Given the description of an element on the screen output the (x, y) to click on. 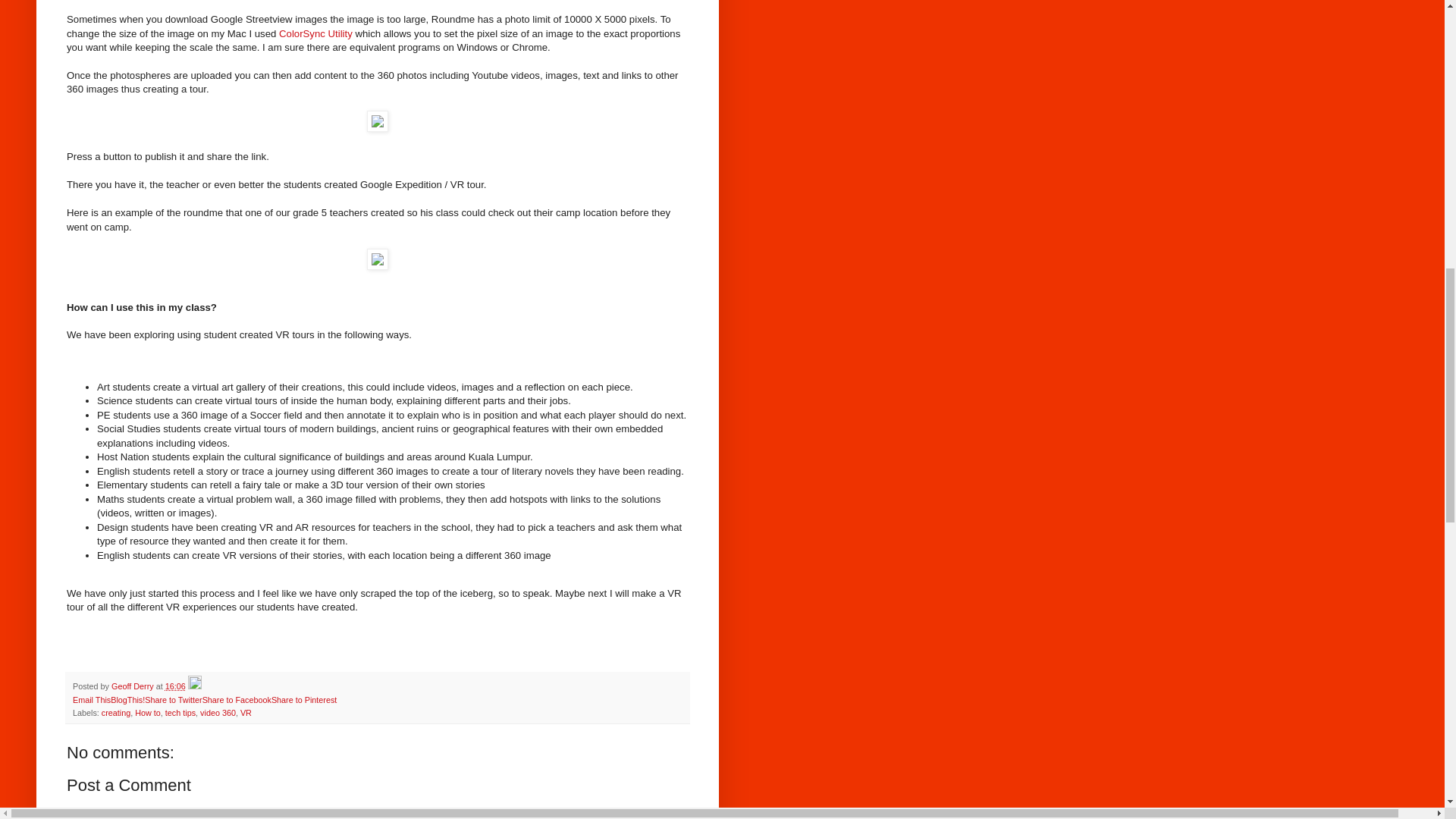
Share to Twitter (173, 699)
Share to Pinterest (303, 699)
ColorSync Utility (315, 33)
Edit Post (194, 686)
How to (147, 712)
Email This (91, 699)
creating (116, 712)
BlogThis! (127, 699)
Email This (91, 699)
Share to Twitter (173, 699)
Share to Pinterest (303, 699)
video 360 (217, 712)
VR (245, 712)
Geoff Derry (133, 686)
author profile (133, 686)
